Given the description of an element on the screen output the (x, y) to click on. 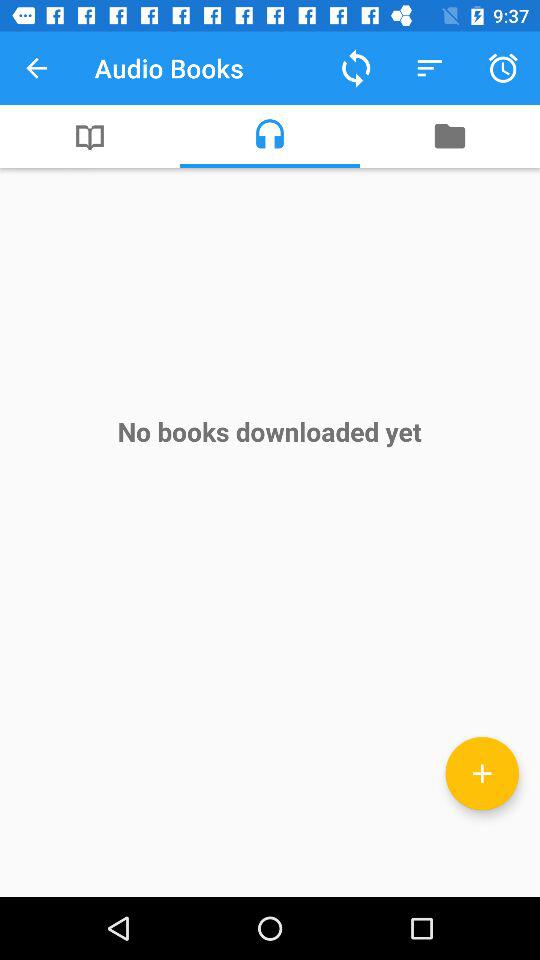
add an audio book (482, 773)
